Given the description of an element on the screen output the (x, y) to click on. 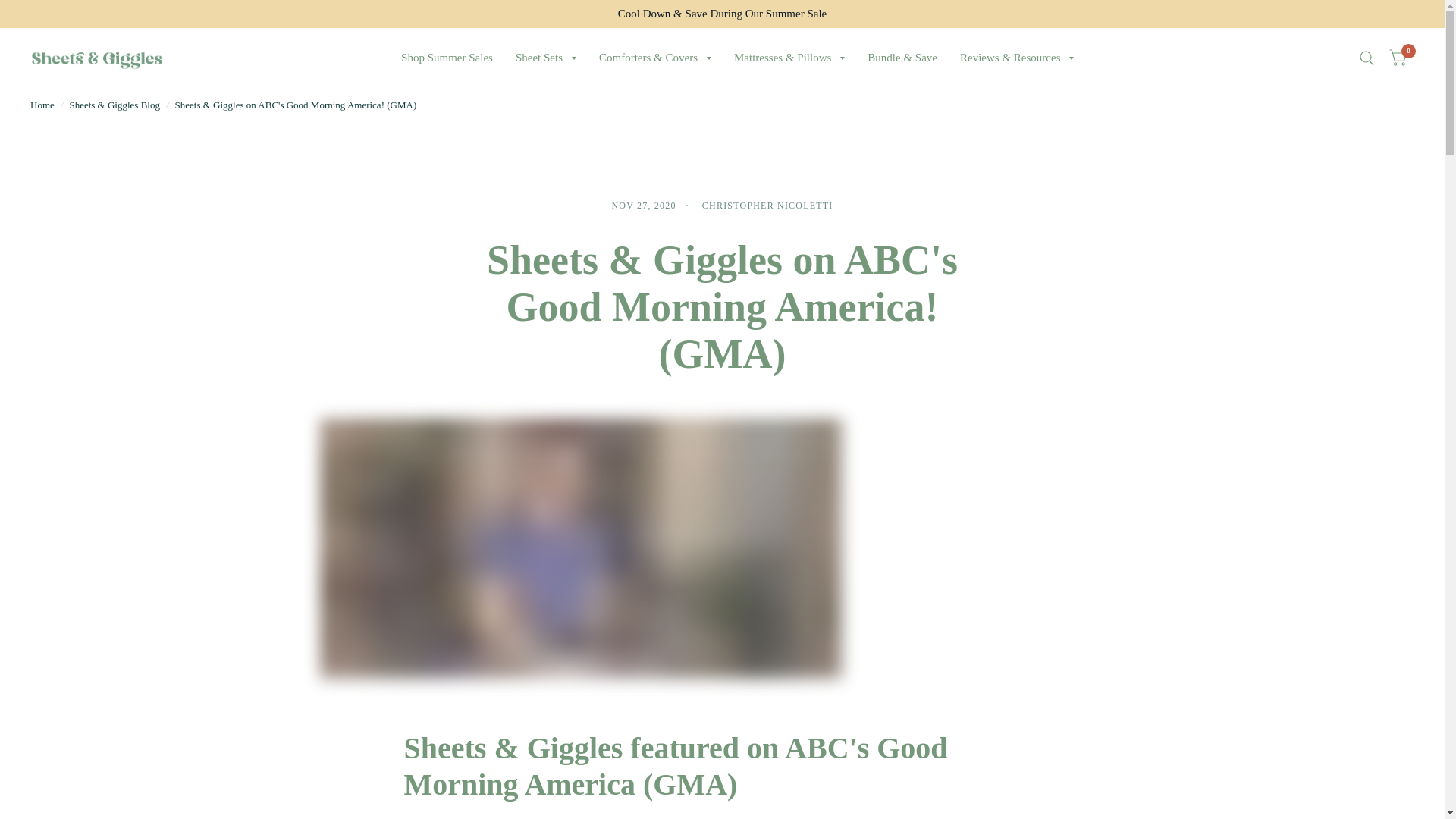
Sheet Sets (545, 58)
Shop Summer Sales (447, 58)
